Given the description of an element on the screen output the (x, y) to click on. 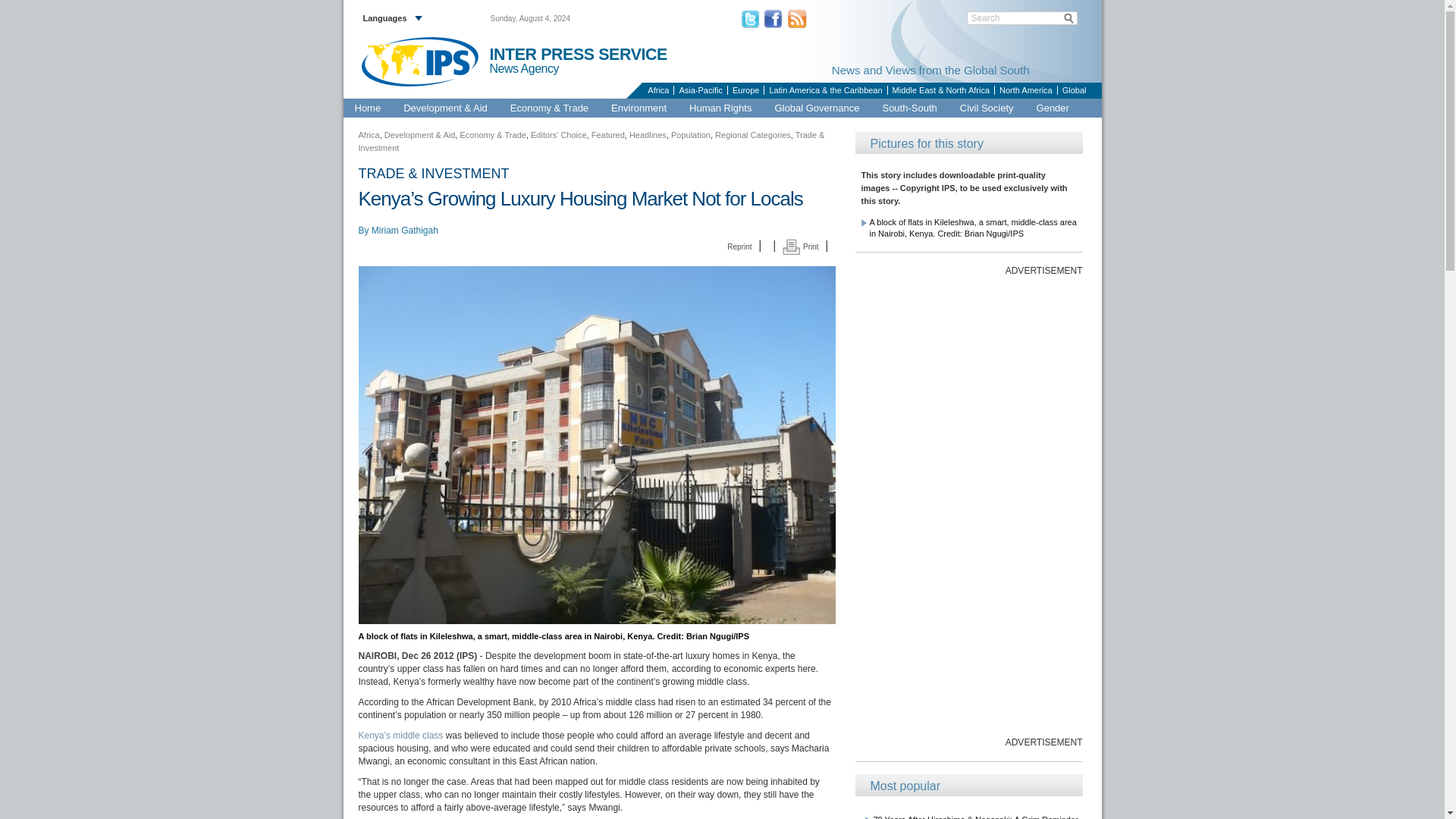
Europe (744, 90)
Asia-Pacific (699, 90)
News Agency (531, 69)
Africa (657, 90)
Search (1022, 18)
North America (1025, 90)
Home (366, 107)
Global (1073, 90)
Posts by Miriam Gathigah (404, 230)
INTER PRESS SERVICE (577, 54)
View all posts in Opinion (433, 174)
